Given the description of an element on the screen output the (x, y) to click on. 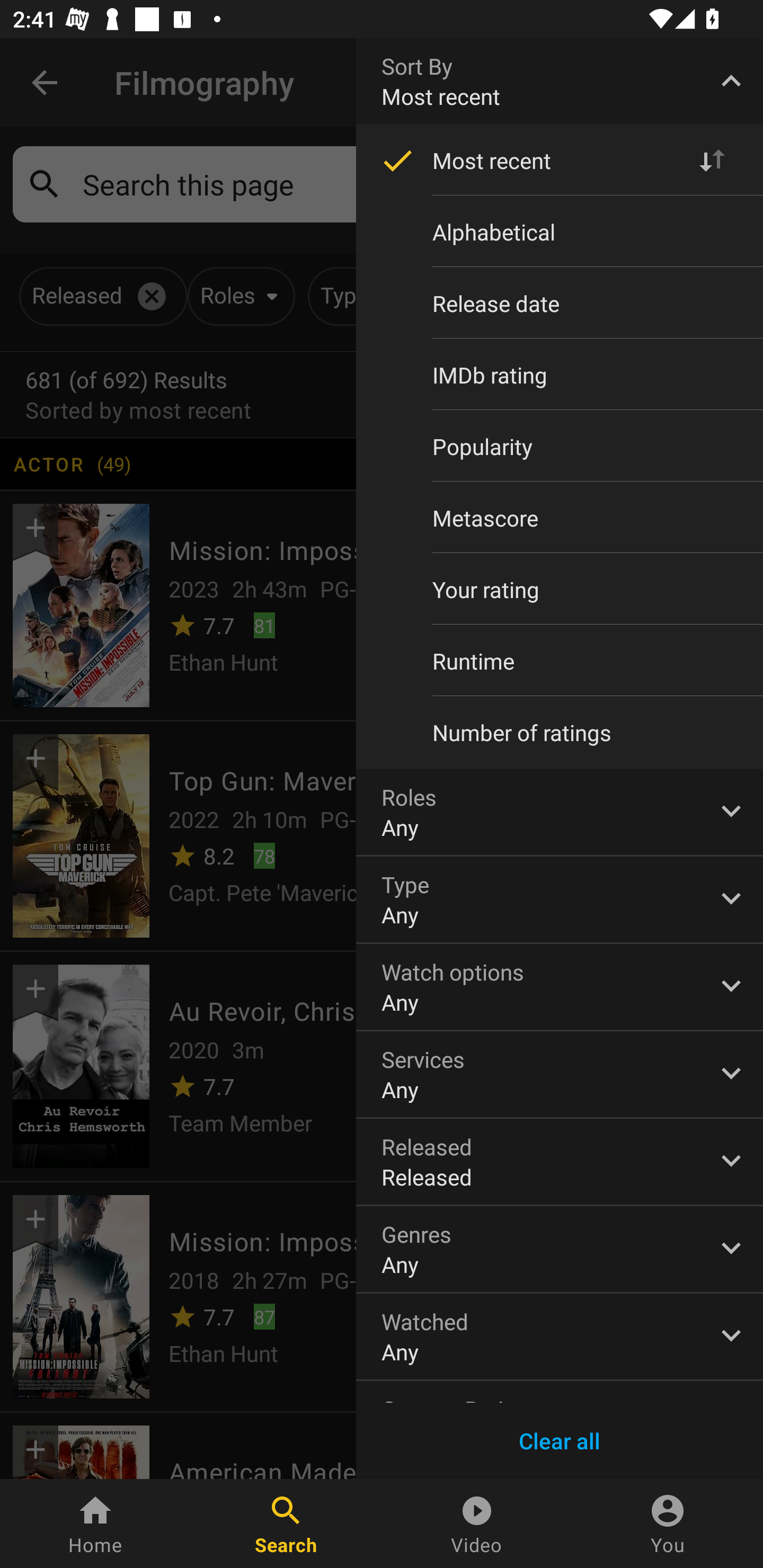
Sort By Most recent (559, 80)
Most recent (559, 160)
Alphabetical (559, 231)
Release date (559, 303)
IMDb rating (559, 374)
Popularity (559, 445)
Metascore (559, 517)
Your rating (559, 589)
Runtime (559, 660)
Number of ratings (559, 732)
Roles Any (559, 811)
Type Any (559, 899)
Watch options Any (559, 986)
Services Any (559, 1073)
Released (559, 1161)
Genres Any (559, 1248)
Watched Any (559, 1336)
Clear all (559, 1440)
Home (95, 1523)
Video (476, 1523)
You (667, 1523)
